Given the description of an element on the screen output the (x, y) to click on. 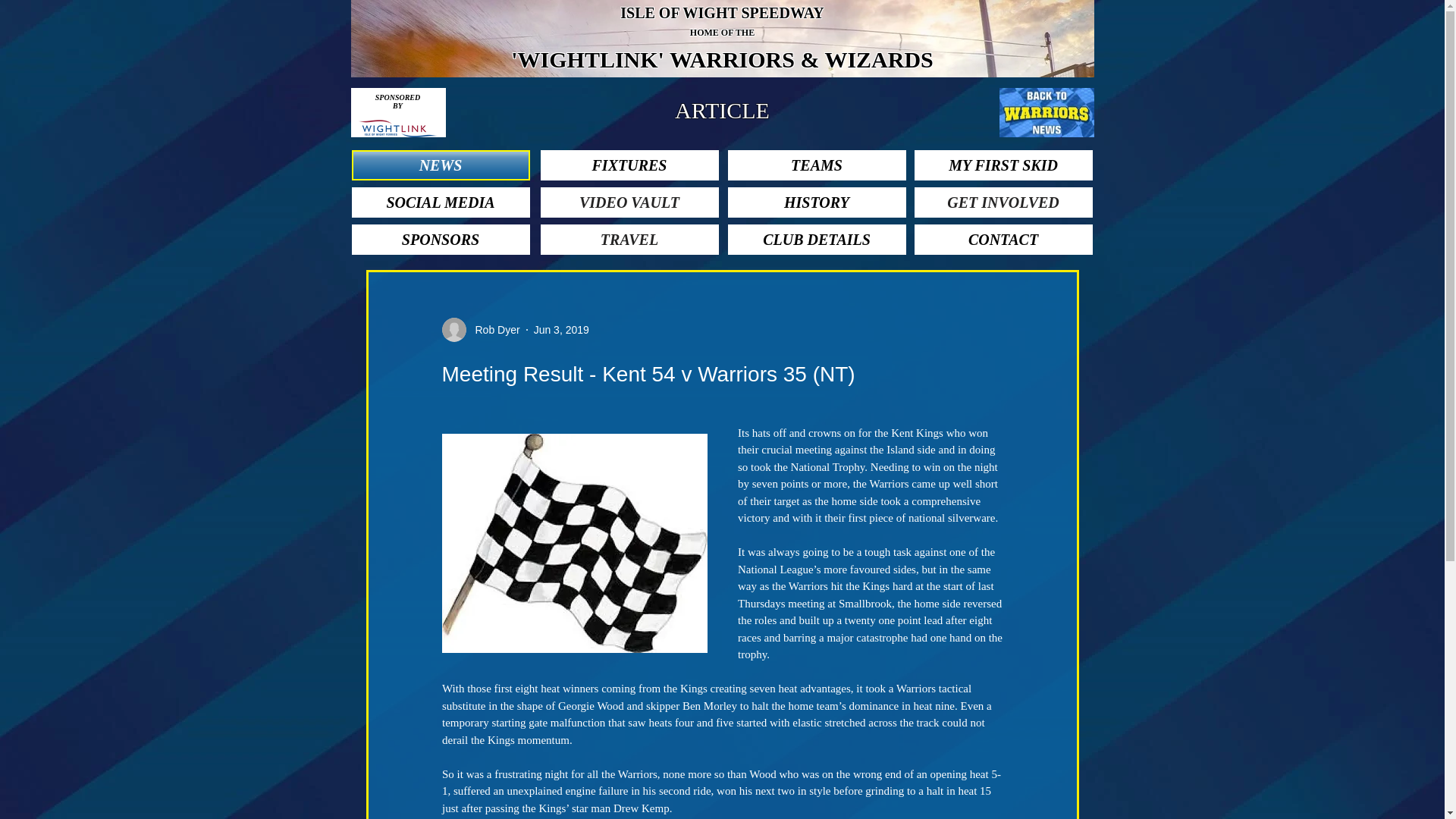
SPONSORED (397, 97)
SPONSORS (440, 239)
CLICK TO GO TO THE WIGHTLINK WEBSITE (397, 128)
Rob Dyer (492, 329)
SOCIAL MEDIA (440, 202)
CLUB DETAILS (816, 239)
BY (398, 105)
CONTACT (1003, 239)
Jun 3, 2019 (561, 328)
GET INVOLVED (1003, 202)
